Given the description of an element on the screen output the (x, y) to click on. 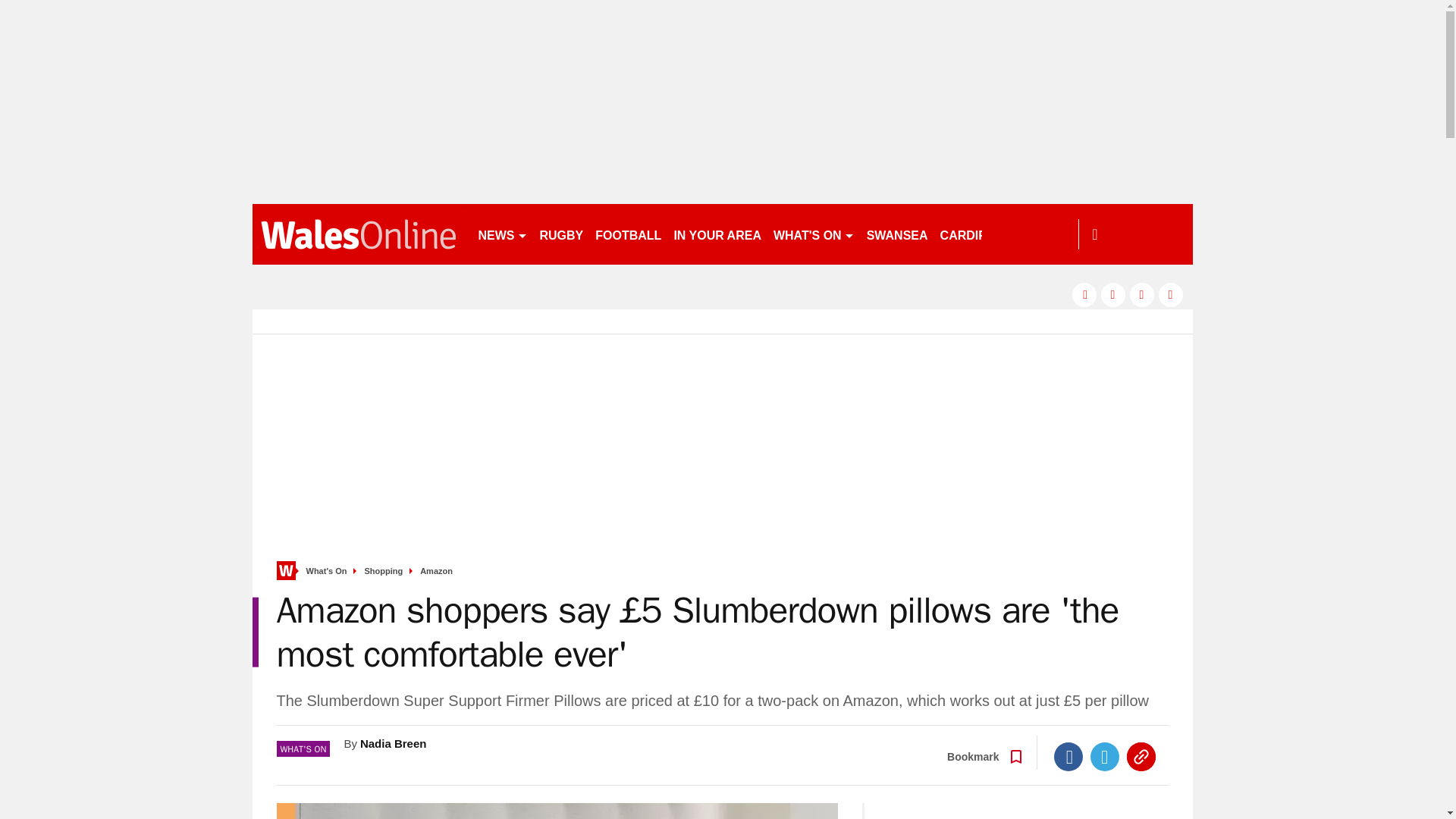
pinterest (1141, 294)
Facebook (1068, 756)
FOOTBALL (627, 233)
instagram (1170, 294)
facebook (1083, 294)
RUGBY (561, 233)
walesonline (357, 233)
WHAT'S ON (813, 233)
Twitter (1104, 756)
SWANSEA (897, 233)
twitter (1112, 294)
IN YOUR AREA (716, 233)
NEWS (501, 233)
